Given the description of an element on the screen output the (x, y) to click on. 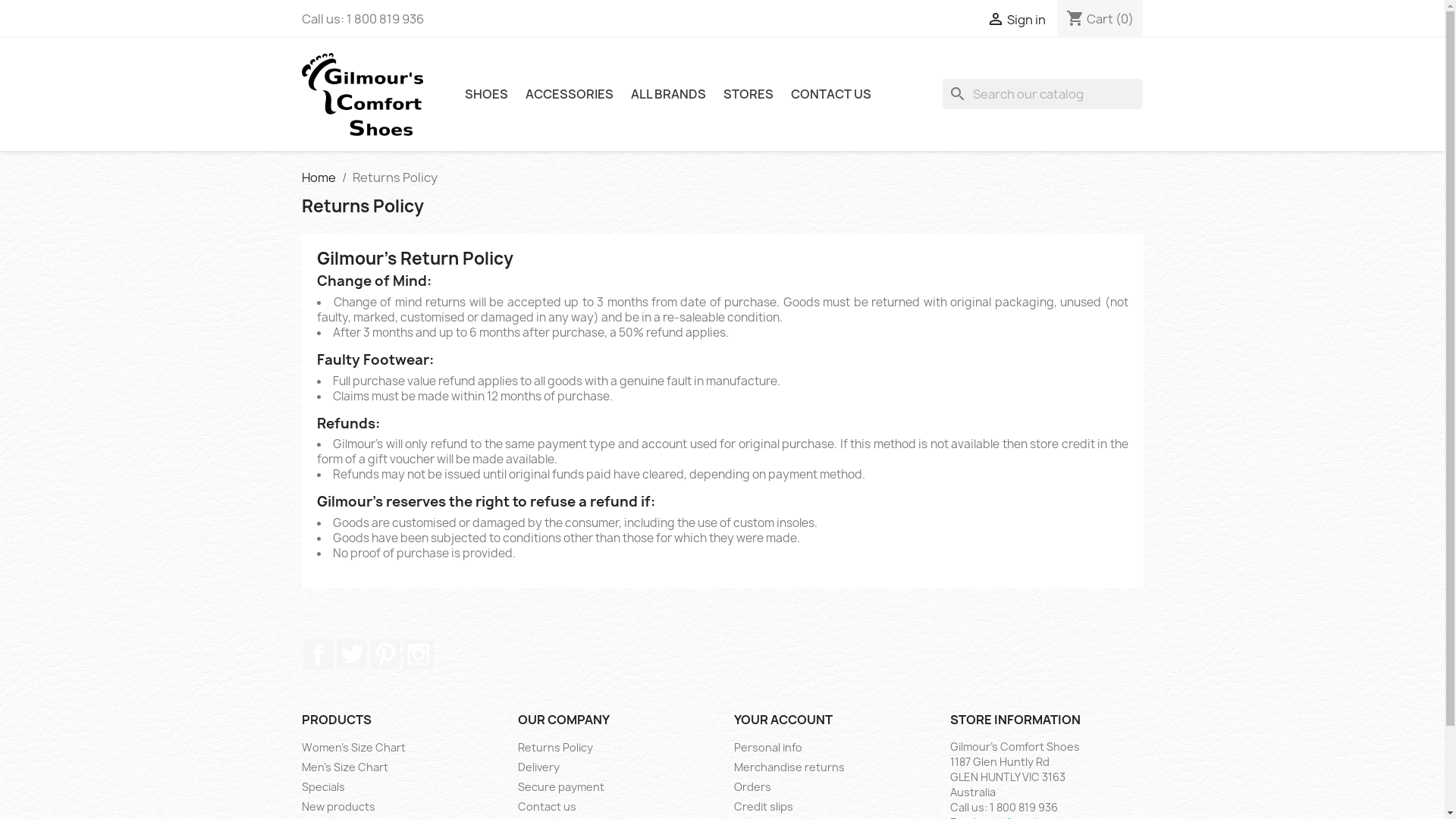
Personal info Element type: text (768, 747)
Pinterest Element type: text (385, 654)
SHOES Element type: text (485, 93)
Returns Policy Element type: text (554, 747)
Facebook Element type: text (318, 654)
Twitter Element type: text (351, 654)
Home Element type: text (318, 177)
ACCESSORIES Element type: text (568, 93)
CONTACT US Element type: text (830, 93)
YOUR ACCOUNT Element type: text (783, 719)
Secure payment Element type: text (560, 786)
Orders Element type: text (752, 786)
Instagram Element type: text (418, 654)
STORES Element type: text (748, 93)
Contact us Element type: text (546, 806)
Merchandise returns Element type: text (789, 766)
Women's Size Chart Element type: text (353, 747)
Specials Element type: text (323, 786)
New products Element type: text (338, 806)
ALL BRANDS Element type: text (668, 93)
Delivery Element type: text (537, 766)
Credit slips Element type: text (763, 806)
Men's Size Chart Element type: text (344, 766)
